Given the description of an element on the screen output the (x, y) to click on. 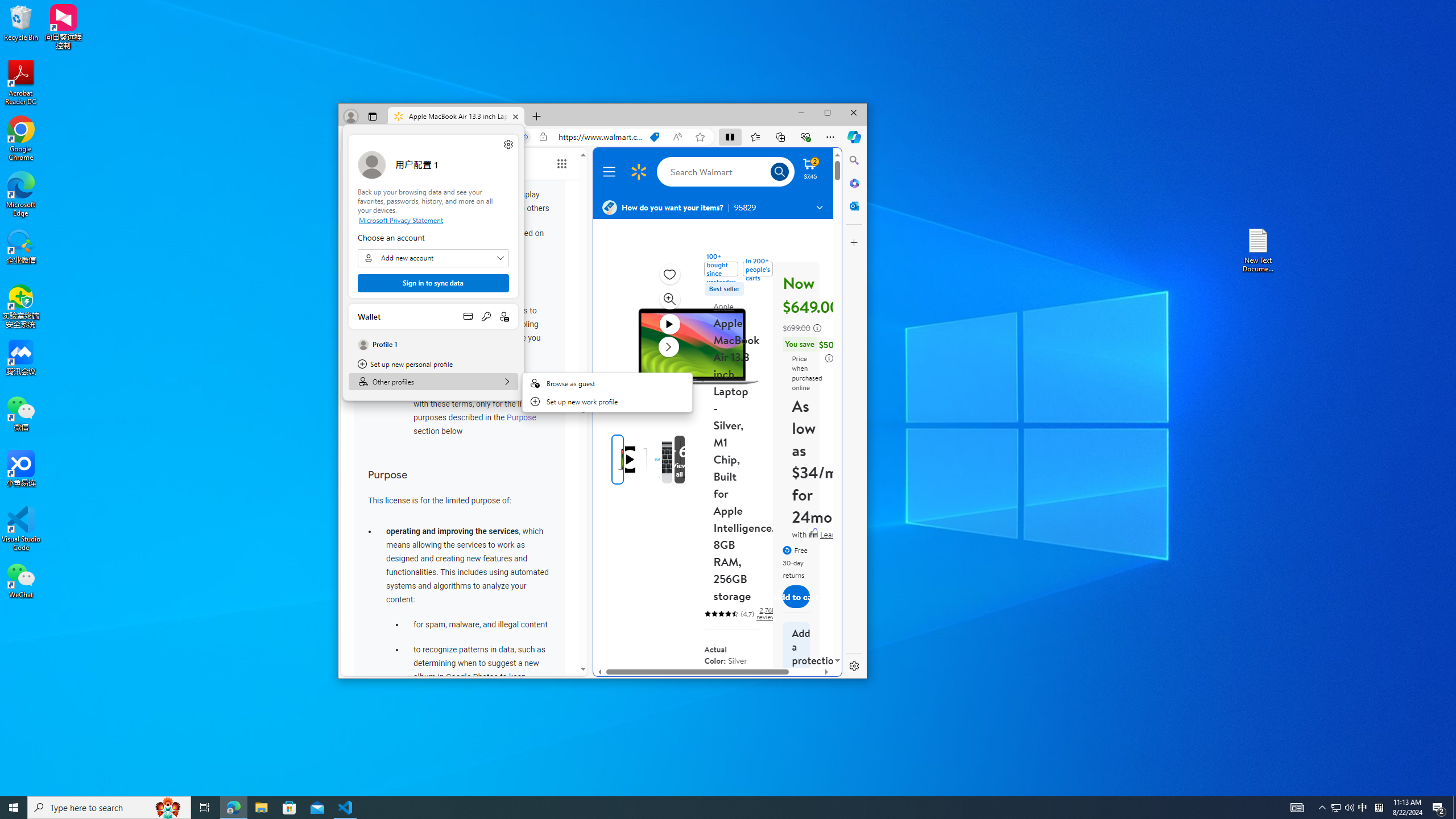
Cart contains 2 items Total Amount $7.45 (810, 168)
Free 30-day returns (796, 561)
Apple (723, 306)
